Given the description of an element on the screen output the (x, y) to click on. 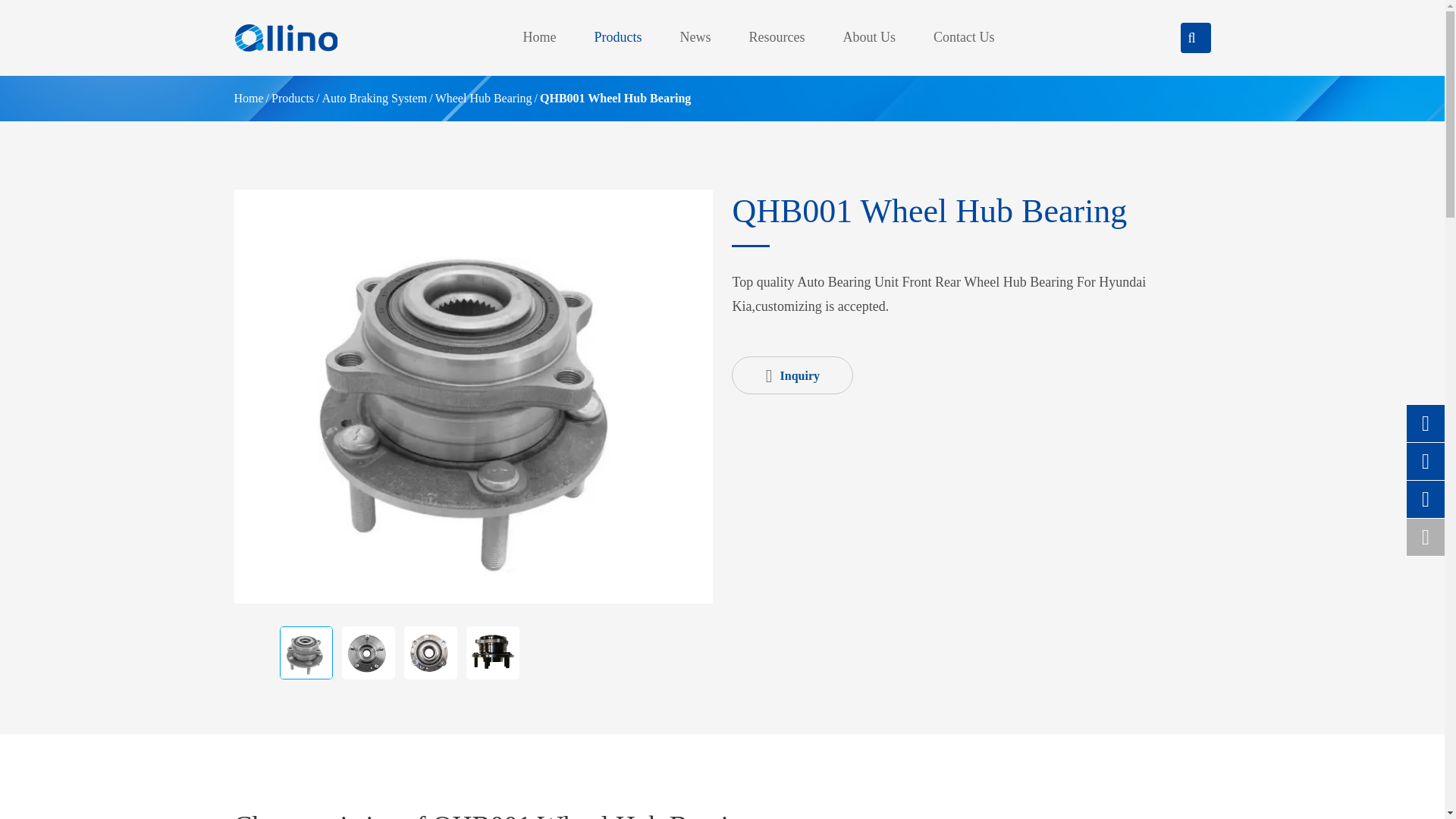
auto wheel hub bearing (367, 652)
Qllino Automotive Industrial Limited (284, 37)
front hub bearing (430, 652)
QHB001 Wheel Hub Bearing (615, 97)
front hub bearing assembly (491, 652)
Products (292, 97)
Auto Braking System (374, 97)
car wheel hub bearing (305, 652)
Wheel Hub Bearing (483, 97)
